Given the description of an element on the screen output the (x, y) to click on. 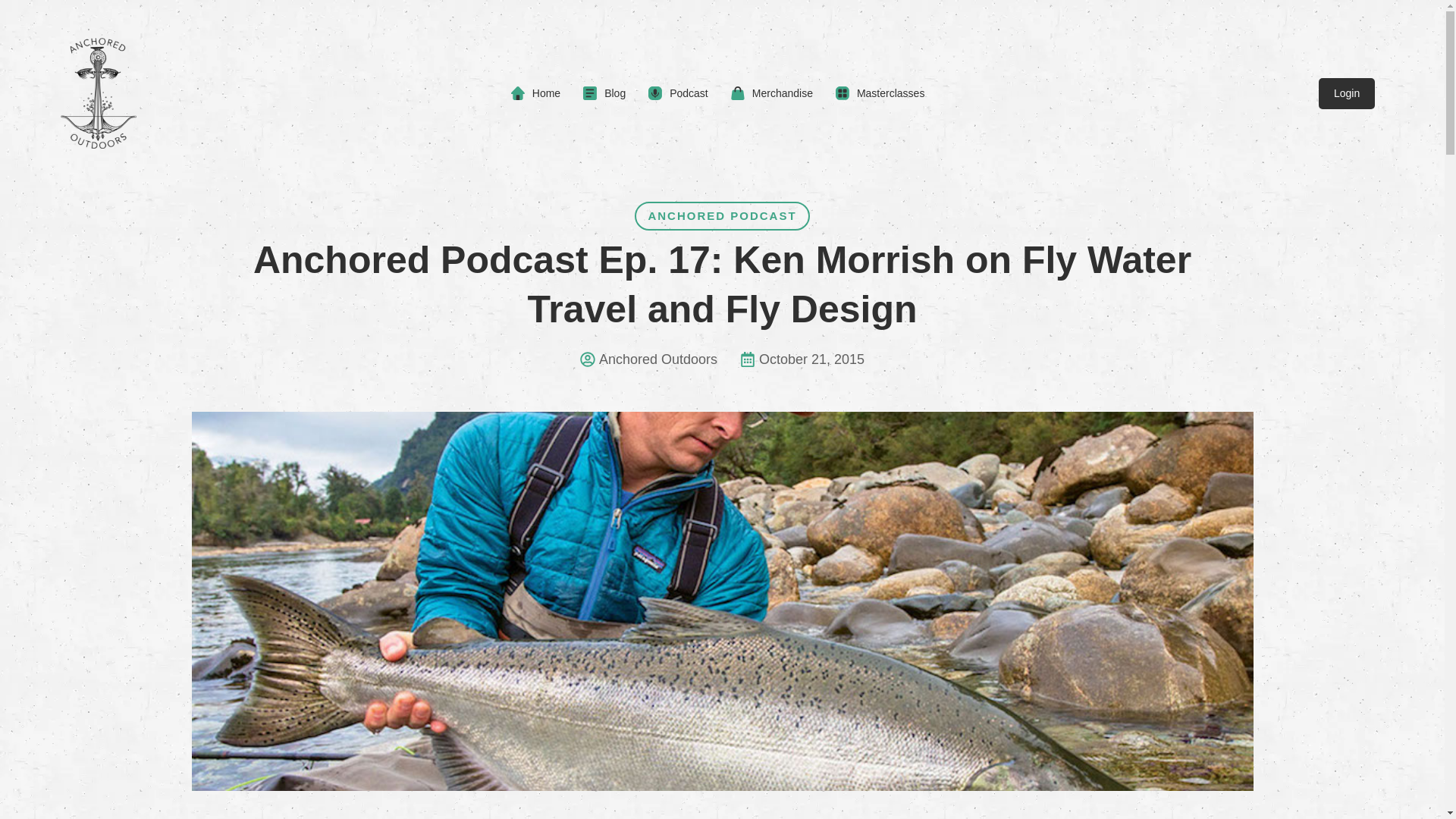
Home (535, 93)
Anchored Outdoors (648, 359)
Masterclasses (879, 93)
Merchandise (771, 93)
Blog (604, 93)
Login (1346, 92)
ANCHORED PODCAST (721, 215)
Podcast (677, 93)
